Given the description of an element on the screen output the (x, y) to click on. 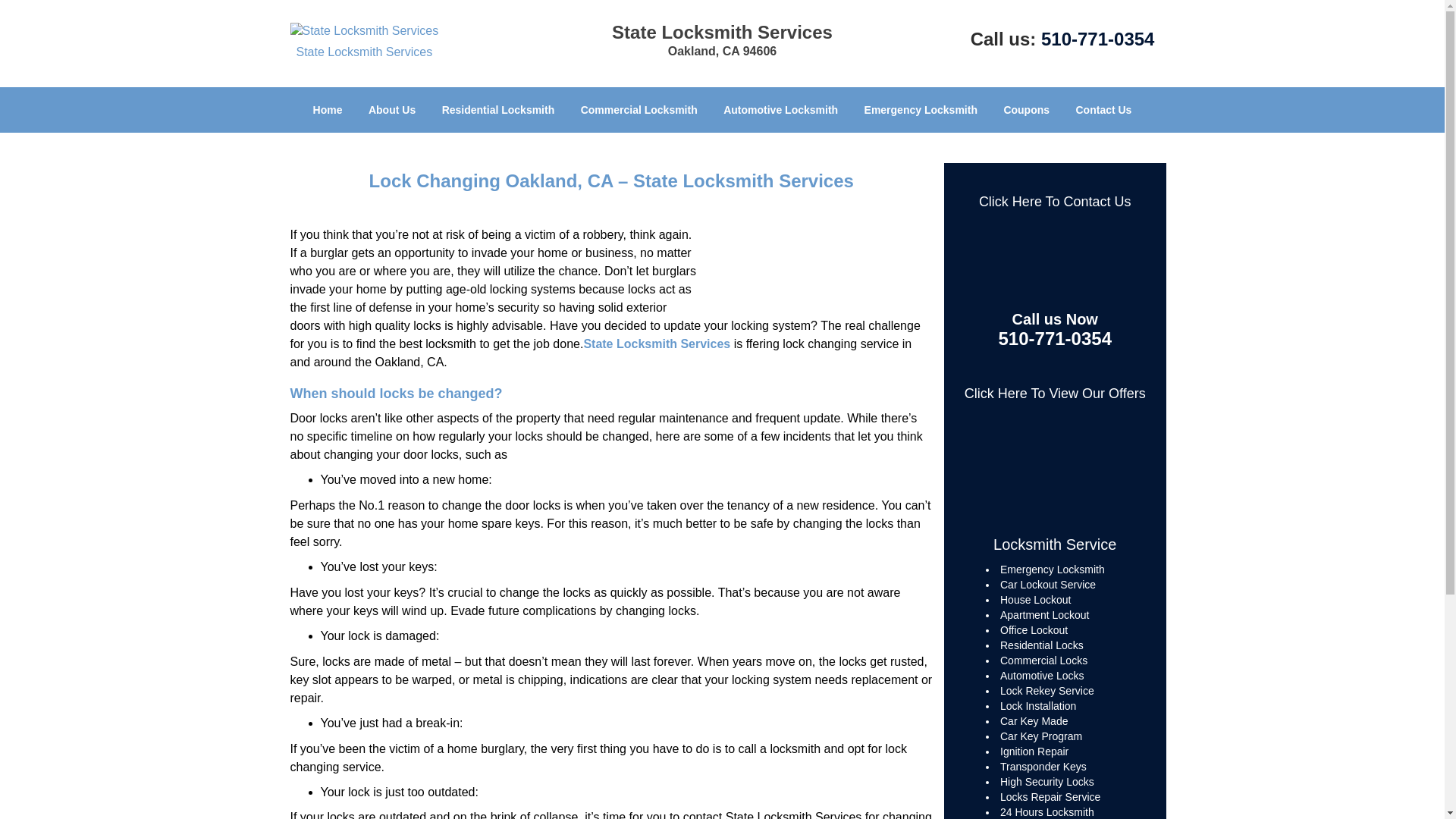
510-771-0354 (1055, 339)
Click Here To View Our Offers (1054, 393)
State Locksmith Services (656, 343)
Click Here To Contact Us (1054, 201)
Commercial Locksmith (639, 109)
Automotive Locksmith (779, 109)
Home (327, 109)
About Us (391, 109)
510-771-0354 (1097, 38)
Contact Us (1103, 109)
